Given the description of an element on the screen output the (x, y) to click on. 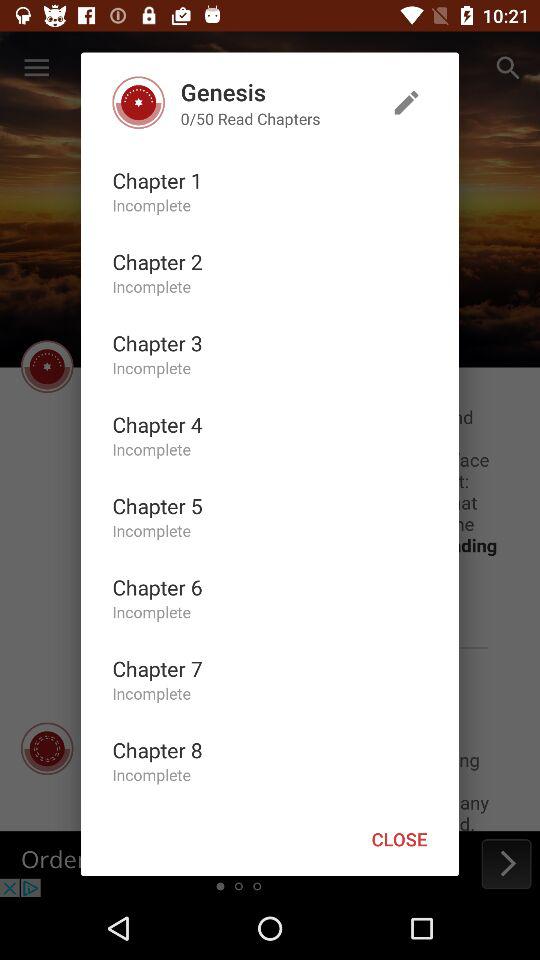
press icon above incomplete item (157, 424)
